Given the description of an element on the screen output the (x, y) to click on. 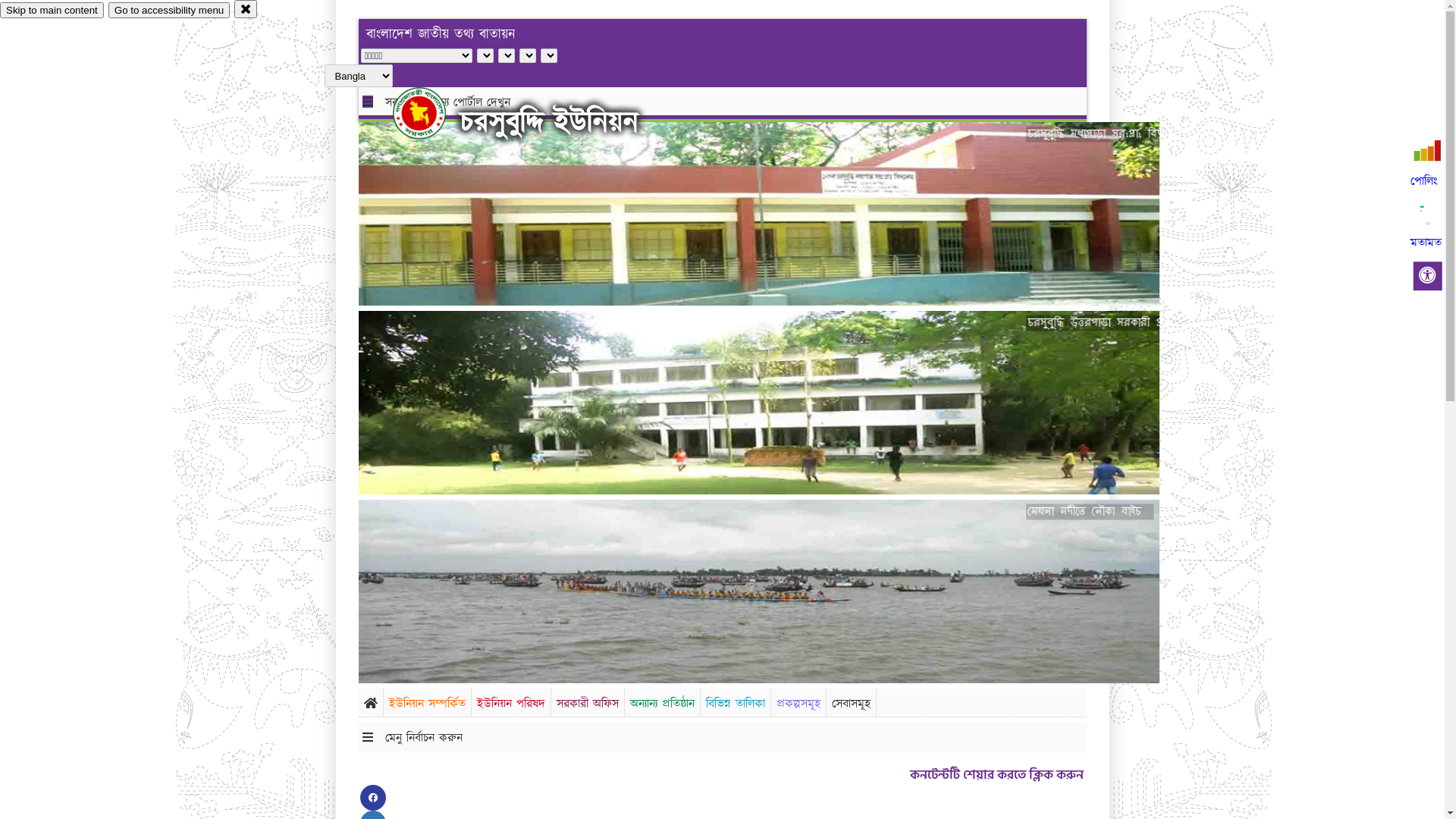
close Element type: hover (245, 9)
Skip to main content Element type: text (51, 10)
Go to accessibility menu Element type: text (168, 10)

                
             Element type: hover (431, 112)
